Given the description of an element on the screen output the (x, y) to click on. 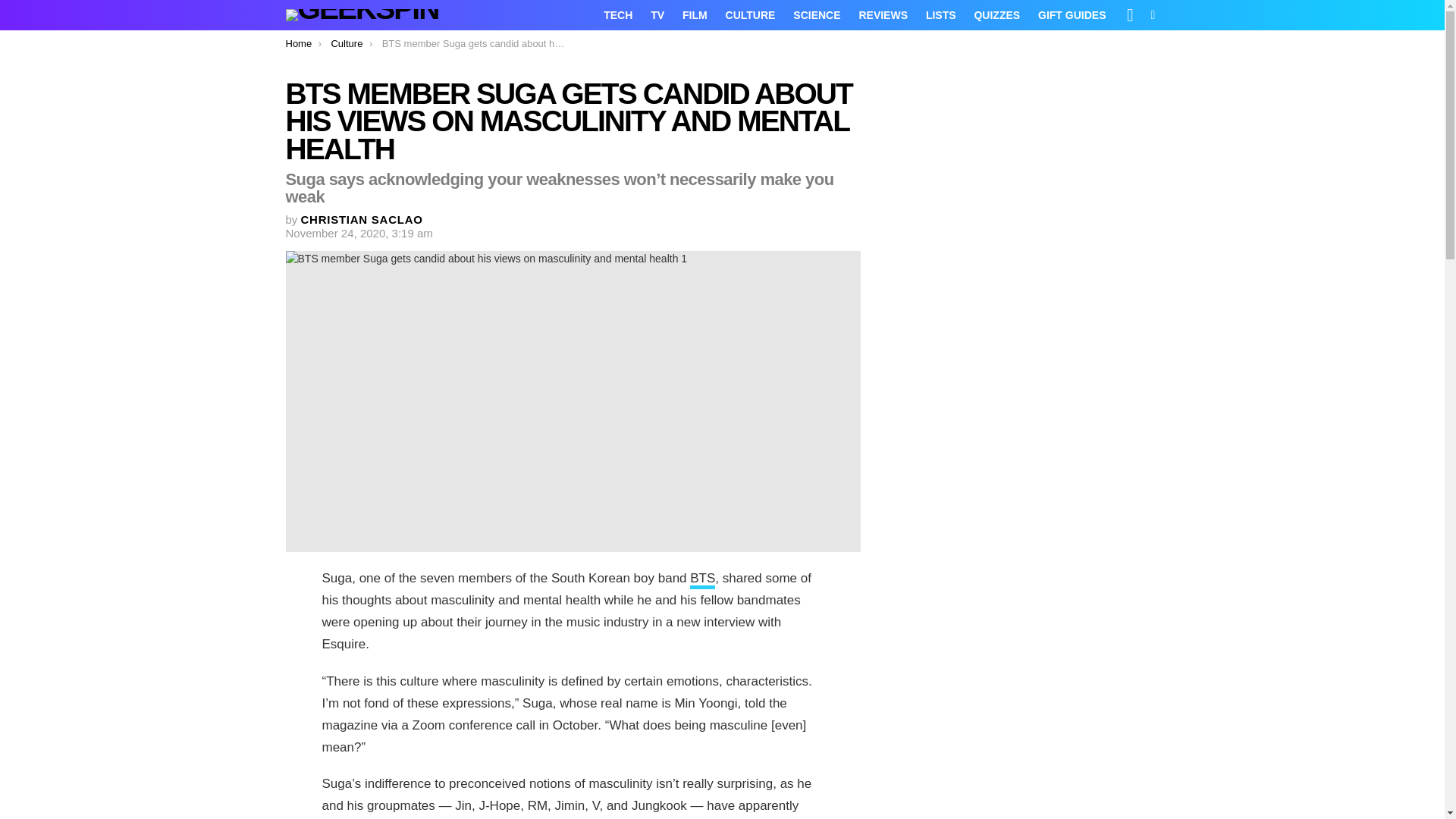
REVIEWS (882, 15)
TV (657, 15)
FILM (694, 15)
Posts by Christian Saclao (362, 219)
LISTS (940, 15)
BTS (702, 579)
QUIZZES (996, 15)
GIFT GUIDES (1071, 15)
CHRISTIAN SACLAO (362, 219)
